Given the description of an element on the screen output the (x, y) to click on. 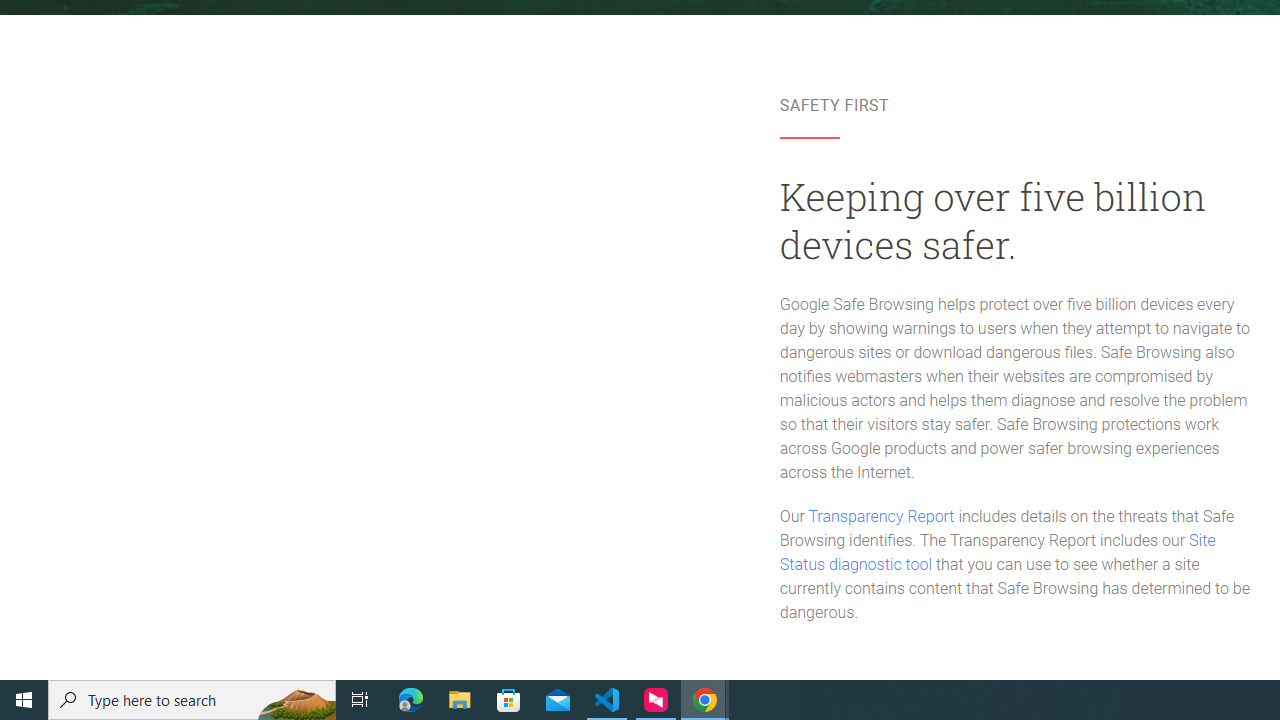
Site Status diagnostic tool (997, 553)
Transparency Report (880, 516)
